Given the description of an element on the screen output the (x, y) to click on. 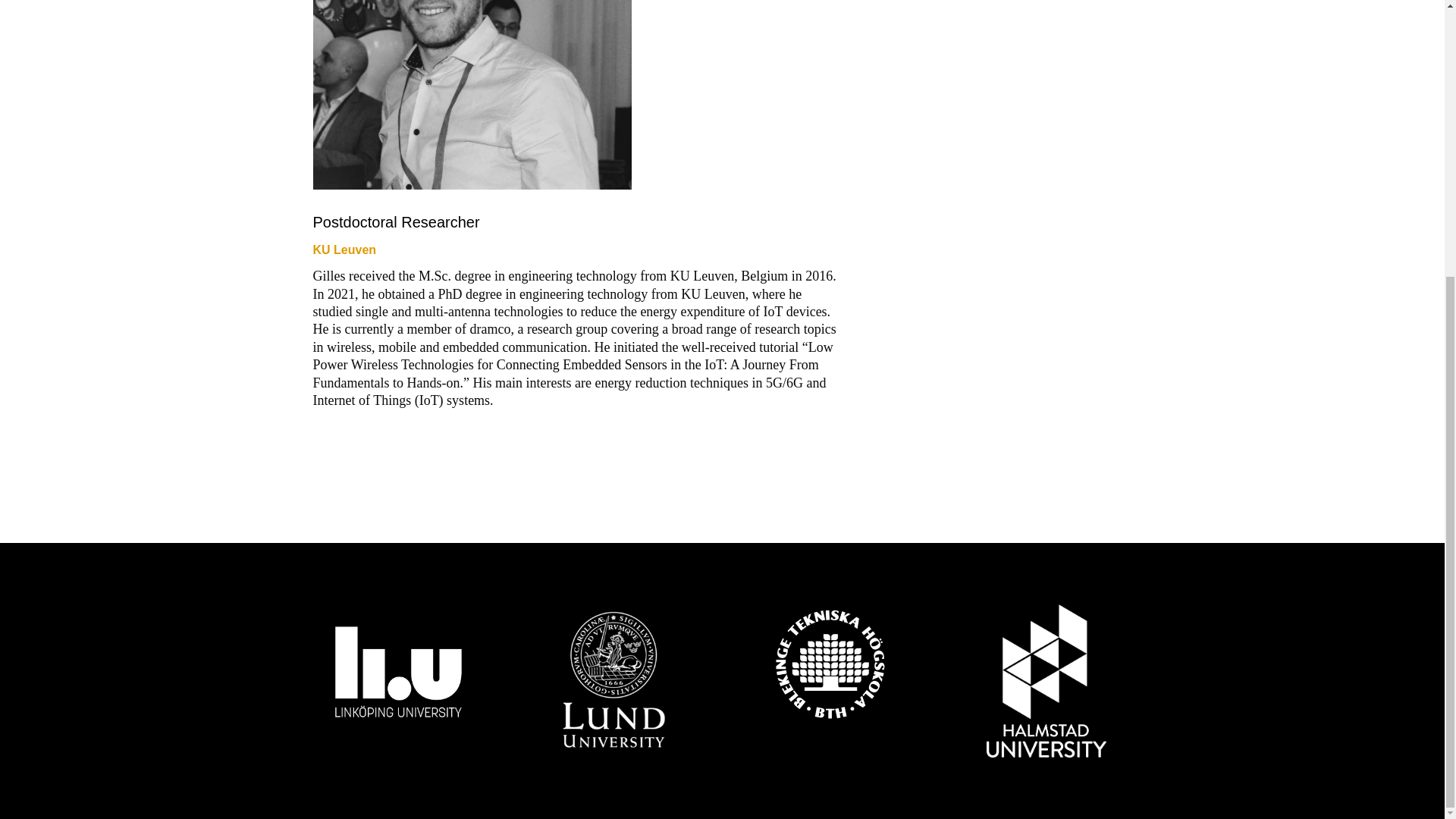
gilles (471, 94)
